Given the description of an element on the screen output the (x, y) to click on. 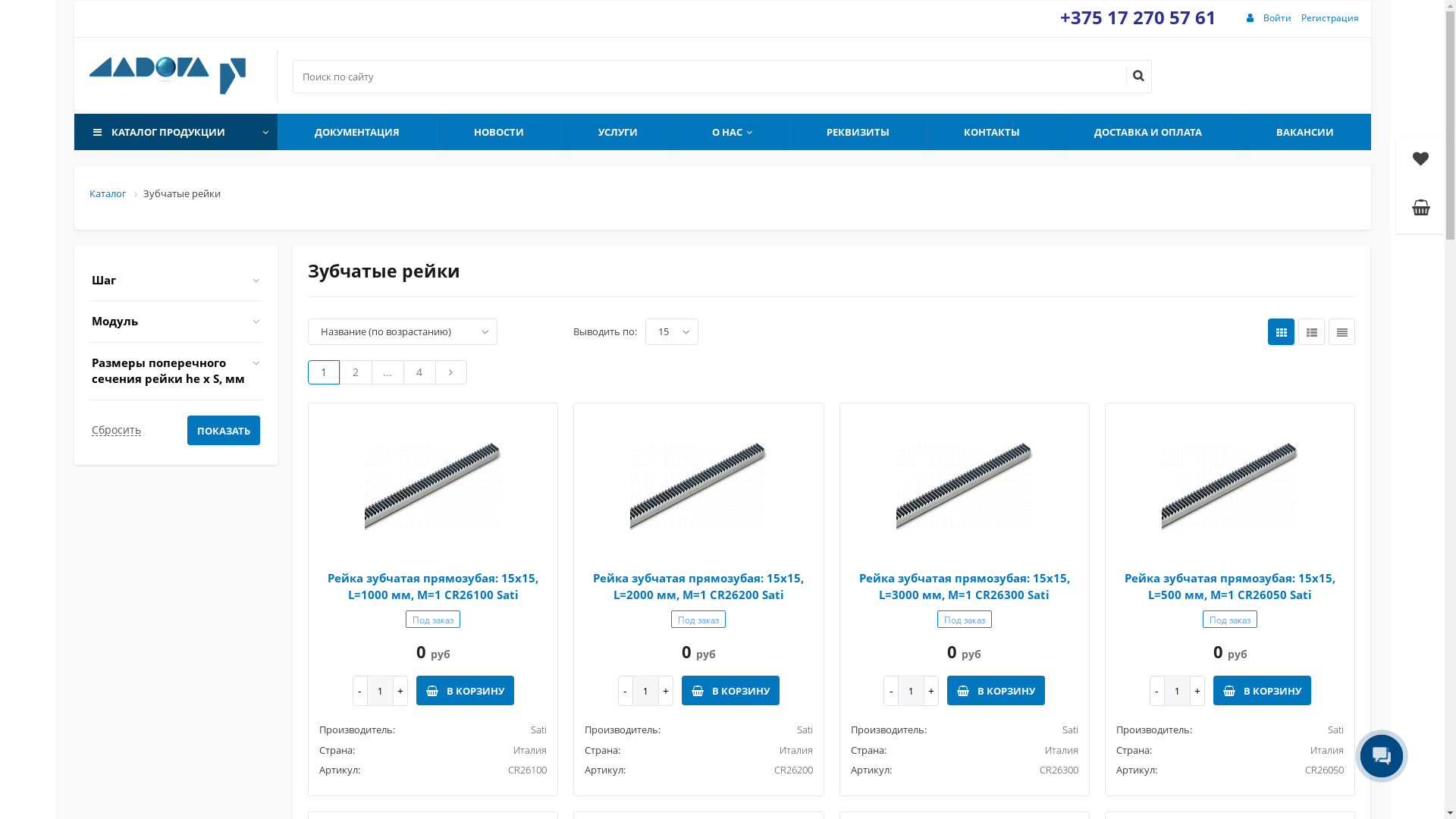
4 Element type: text (419, 372)
2 Element type: text (355, 372)
